Given the description of an element on the screen output the (x, y) to click on. 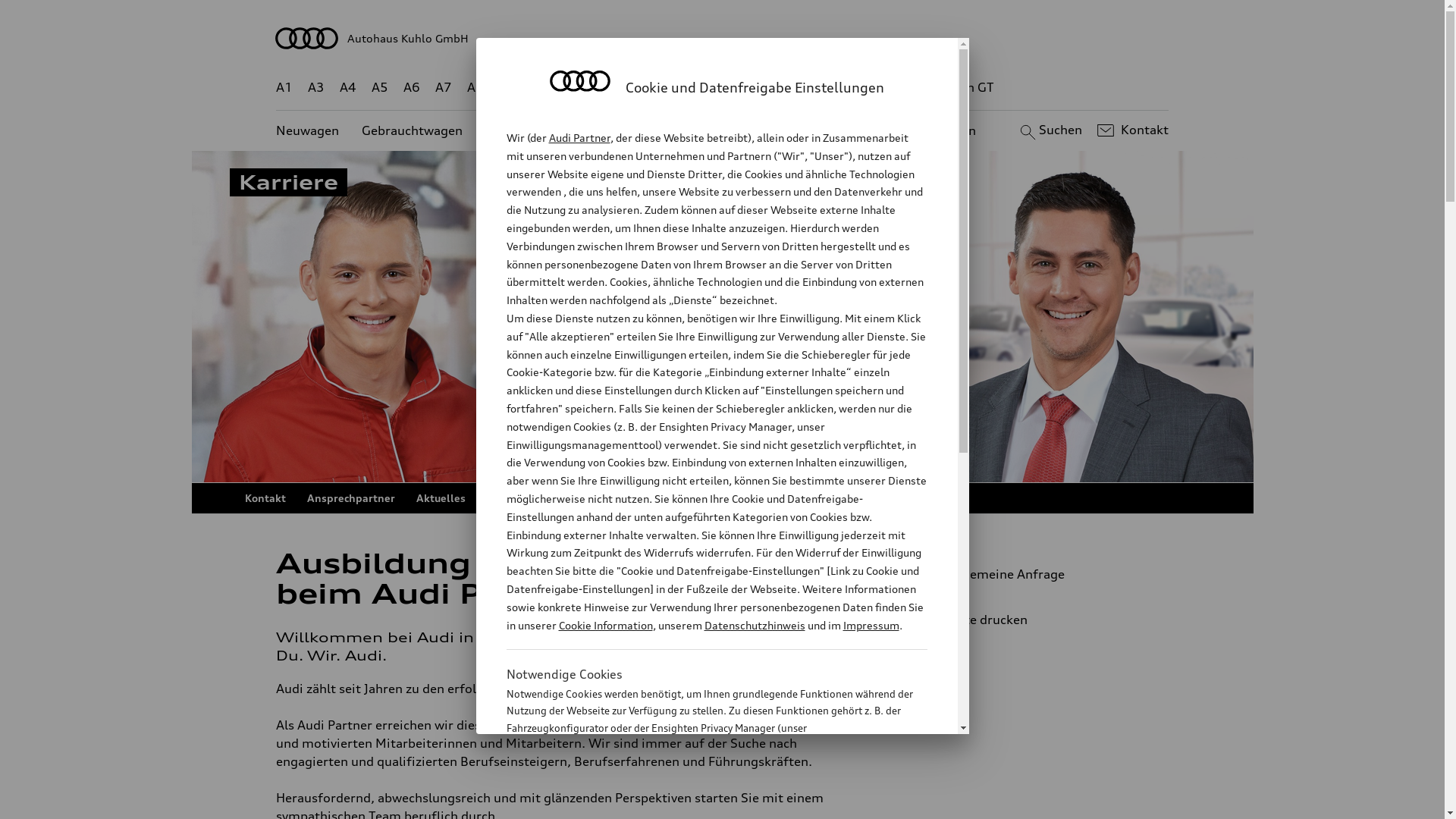
A3 Element type: text (315, 87)
Veranstaltungen Element type: text (634, 498)
RS Element type: text (861, 87)
Autohaus Kuhlo GmbH Element type: text (722, 38)
Kontakt Element type: text (1130, 130)
Q5 Element type: text (645, 87)
Online Shop Element type: text (730, 498)
Audi Partner Element type: text (579, 137)
Q4 e-tron Element type: text (592, 87)
Q2 Element type: text (507, 87)
Angebote Element type: text (636, 130)
Kontakt Element type: text (264, 498)
g-tron Element type: text (903, 87)
Q8 e-tron Element type: text (763, 87)
A6 Element type: text (411, 87)
Allgemeine Anfrage Element type: text (1038, 573)
Auszeichnungen Element type: text (528, 498)
Suchen Element type: text (1049, 130)
A7 Element type: text (443, 87)
Karriere Element type: text (804, 498)
Q3 Element type: text (540, 87)
Kundenservice Element type: text (730, 130)
A1 Element type: text (284, 87)
Cookie Information Element type: text (700, 802)
Neuwagen Element type: text (307, 130)
Cookie Information Element type: text (605, 624)
Q8 Element type: text (710, 87)
Impressum Element type: text (871, 624)
Gebrauchtwagen Element type: text (411, 130)
Q7 Element type: text (678, 87)
A4 Element type: text (347, 87)
A5 Element type: text (379, 87)
A8 Element type: text (475, 87)
e-tron GT Element type: text (965, 87)
Datenschutzhinweis Element type: text (753, 624)
Seite drucken Element type: text (1044, 619)
Aktuelles Element type: text (439, 498)
TT Element type: text (814, 87)
Ansprechpartner Element type: text (349, 498)
